Given the description of an element on the screen output the (x, y) to click on. 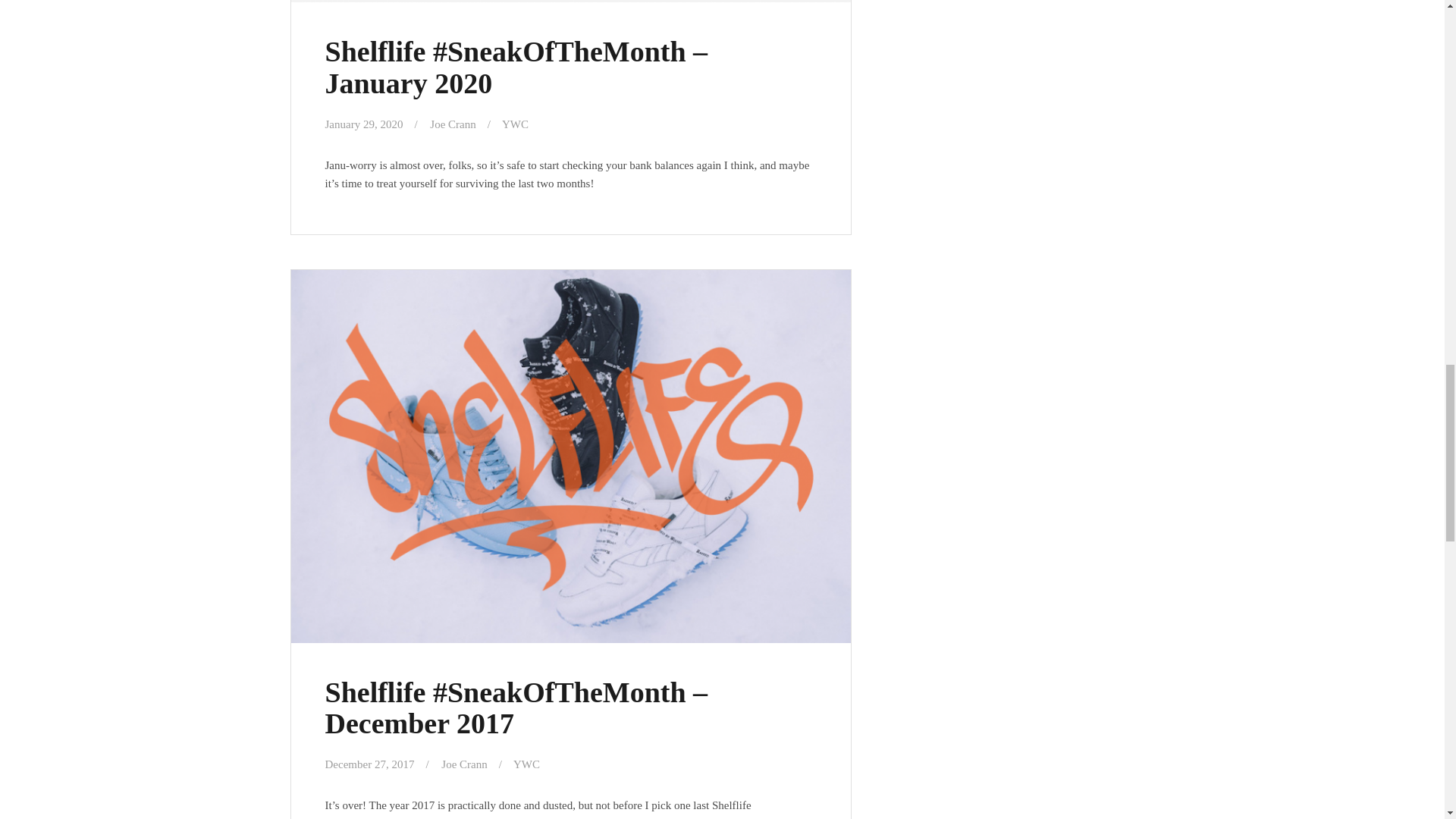
December 27, 2017 (368, 764)
Joe Crann (452, 123)
January 29, 2020 (363, 123)
YWC (515, 123)
